Given the description of an element on the screen output the (x, y) to click on. 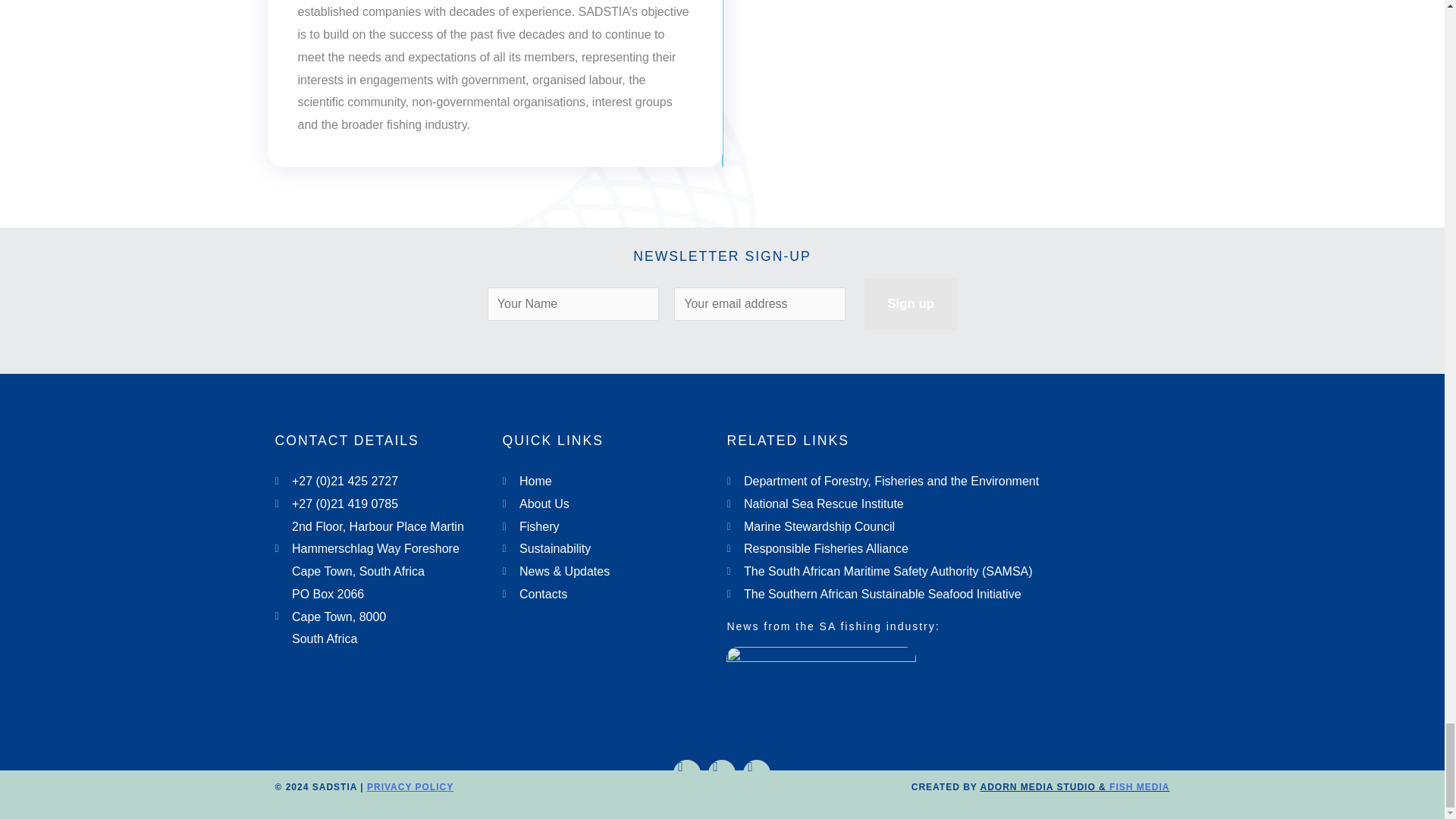
Sign up (910, 303)
Sign up (910, 303)
Home (606, 481)
